Given the description of an element on the screen output the (x, y) to click on. 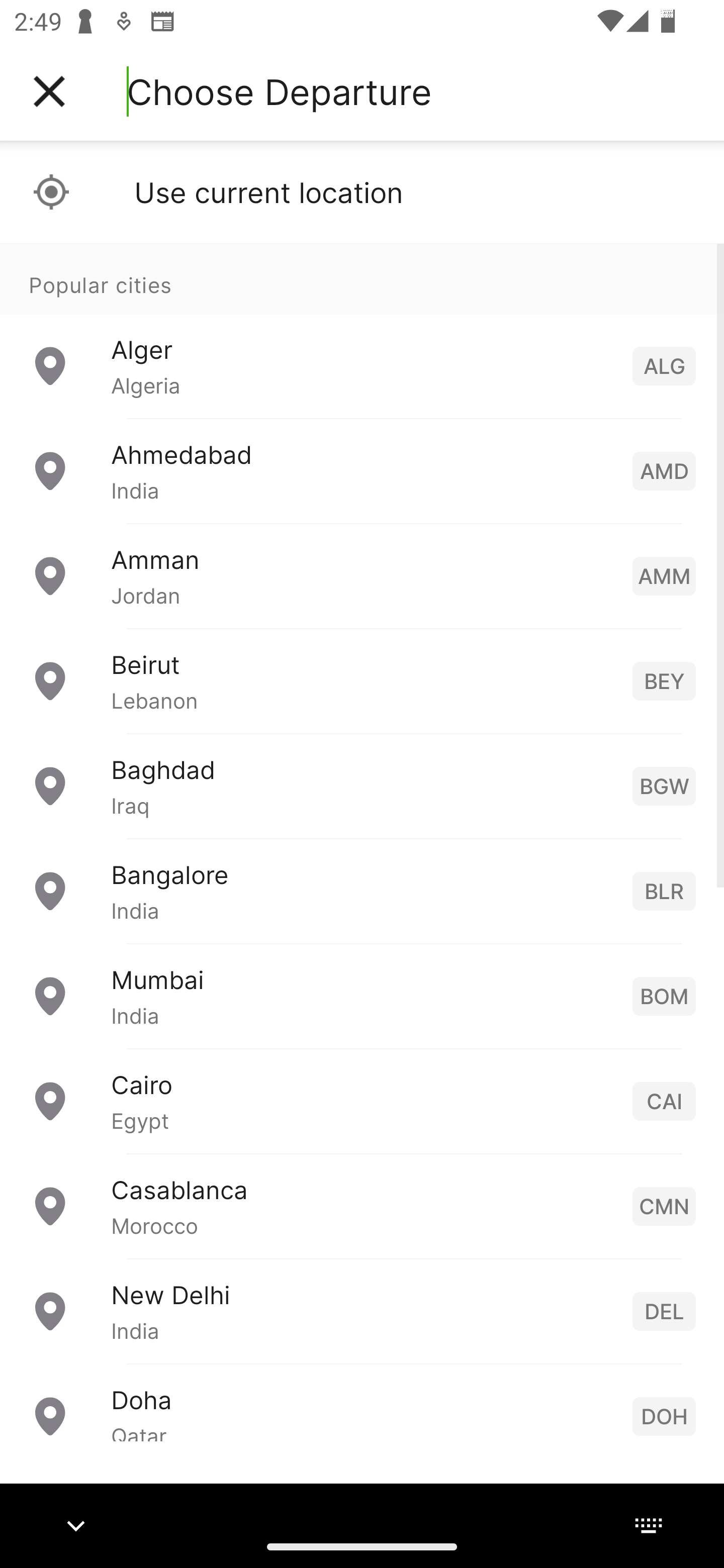
Choose Departure (279, 91)
Use current location (362, 192)
Popular cities Alger Algeria ALG (362, 330)
Popular cities (362, 278)
Ahmedabad India AMD (362, 470)
Amman Jordan AMM (362, 575)
Beirut Lebanon BEY (362, 680)
Baghdad Iraq BGW (362, 785)
Bangalore India BLR (362, 890)
Mumbai India BOM (362, 995)
Cairo Egypt CAI (362, 1101)
Casablanca Morocco CMN (362, 1206)
New Delhi India DEL (362, 1311)
Doha Qatar DOH (362, 1402)
